Given the description of an element on the screen output the (x, y) to click on. 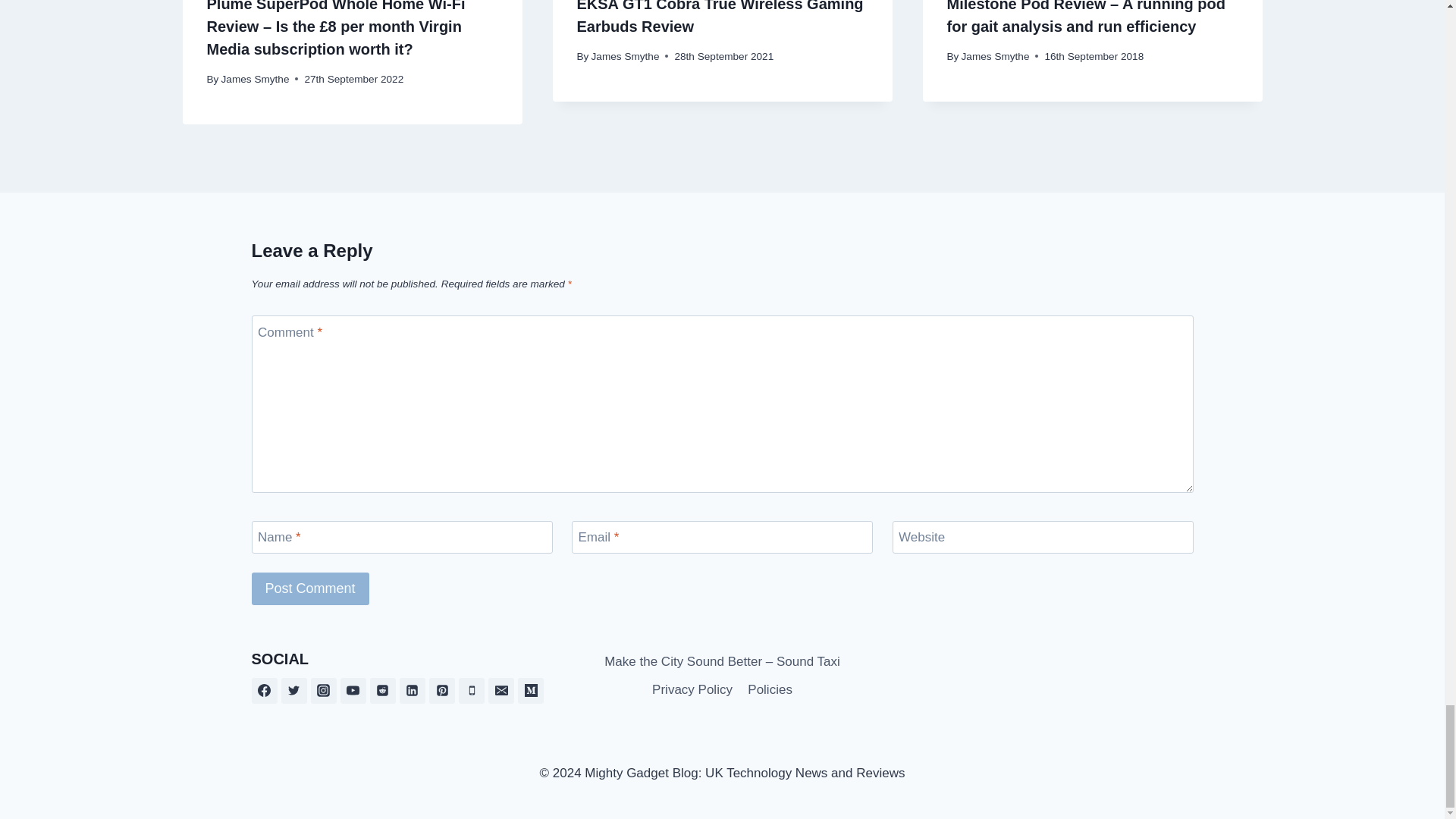
Post Comment (310, 588)
